Given the description of an element on the screen output the (x, y) to click on. 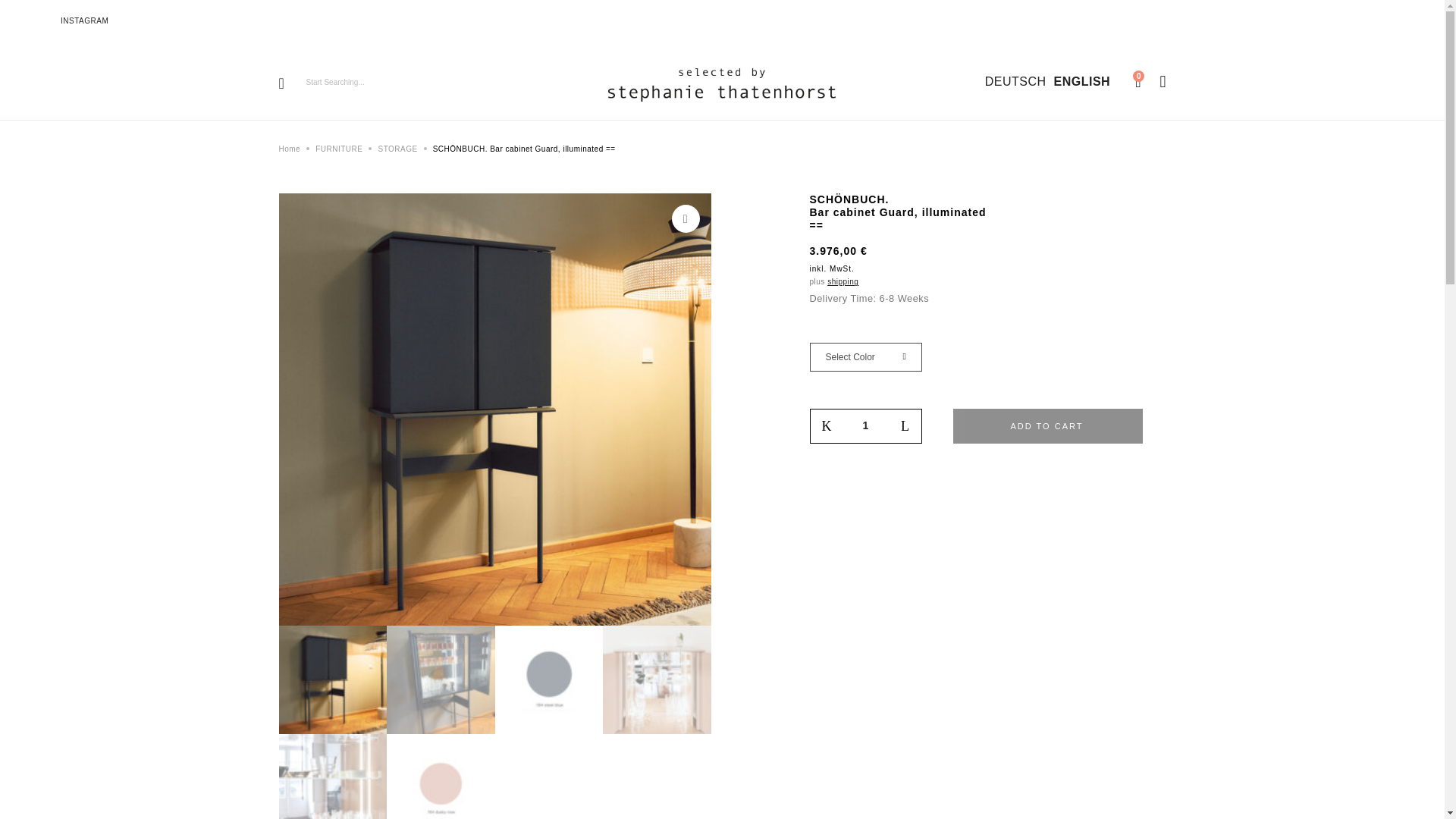
shipping (843, 281)
FURNITURE (338, 148)
STORAGE (396, 148)
INSTAGRAM (84, 20)
ENGLISH (1081, 83)
ADD TO CART (1046, 425)
DEUTSCH (1015, 83)
Home (290, 148)
0 (1137, 82)
1 (865, 425)
Qty (865, 425)
